Given the description of an element on the screen output the (x, y) to click on. 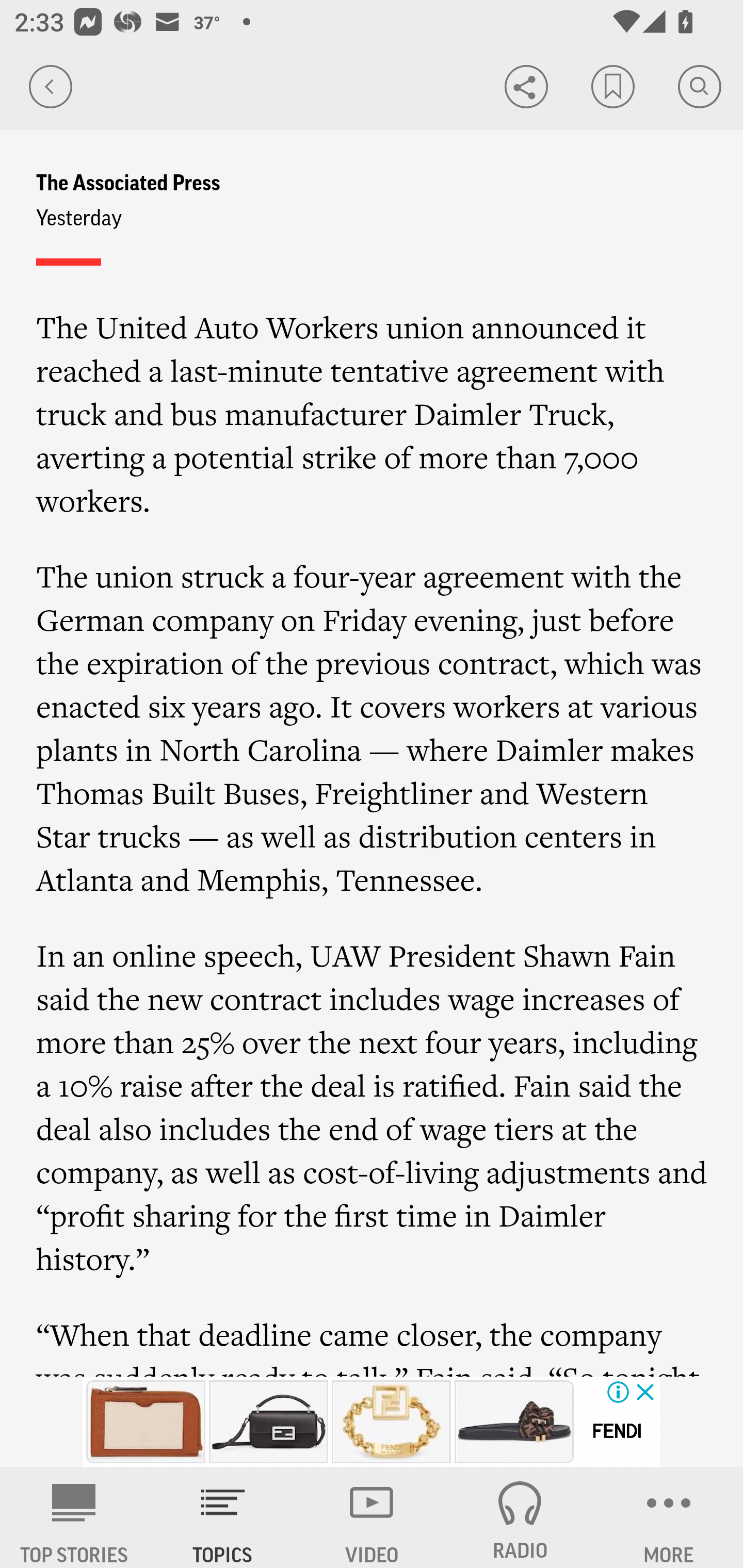
fendi-feel-brown-satin-slides-8x8142ae7sf0r7v (513, 1420)
AP News TOP STORIES (74, 1517)
TOPICS (222, 1517)
VIDEO (371, 1517)
RADIO (519, 1517)
MORE (668, 1517)
